Given the description of an element on the screen output the (x, y) to click on. 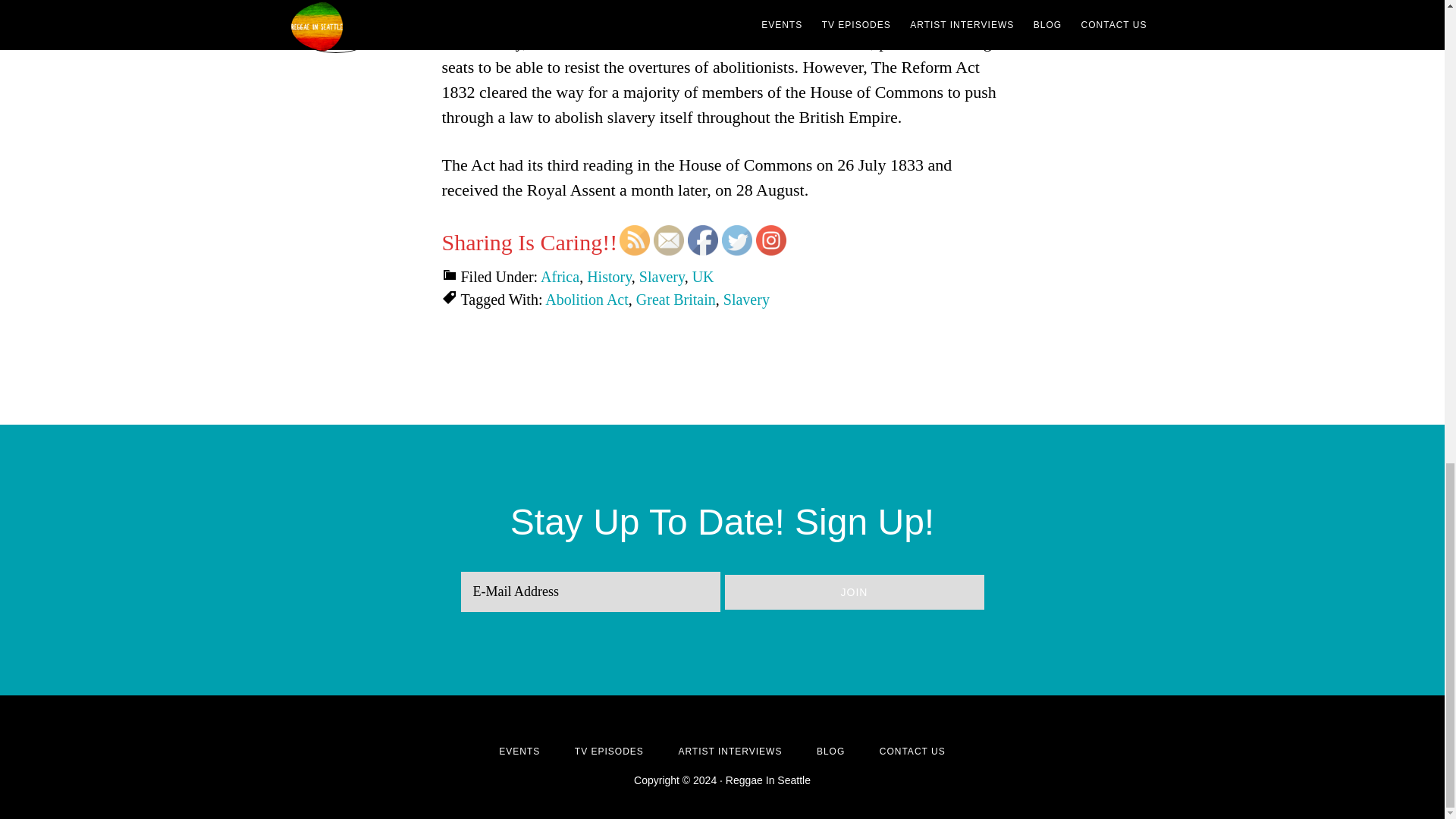
Slavery (661, 276)
Africa (559, 276)
Join (854, 591)
EVENTS (519, 750)
BLOG (830, 750)
TV EPISODES (609, 750)
Great Britain (676, 299)
History (608, 276)
Abolition Act (585, 299)
ARTIST INTERVIEWS (729, 750)
Join (854, 591)
Slavery (746, 299)
UK (703, 276)
CONTACT US (911, 750)
